Given the description of an element on the screen output the (x, y) to click on. 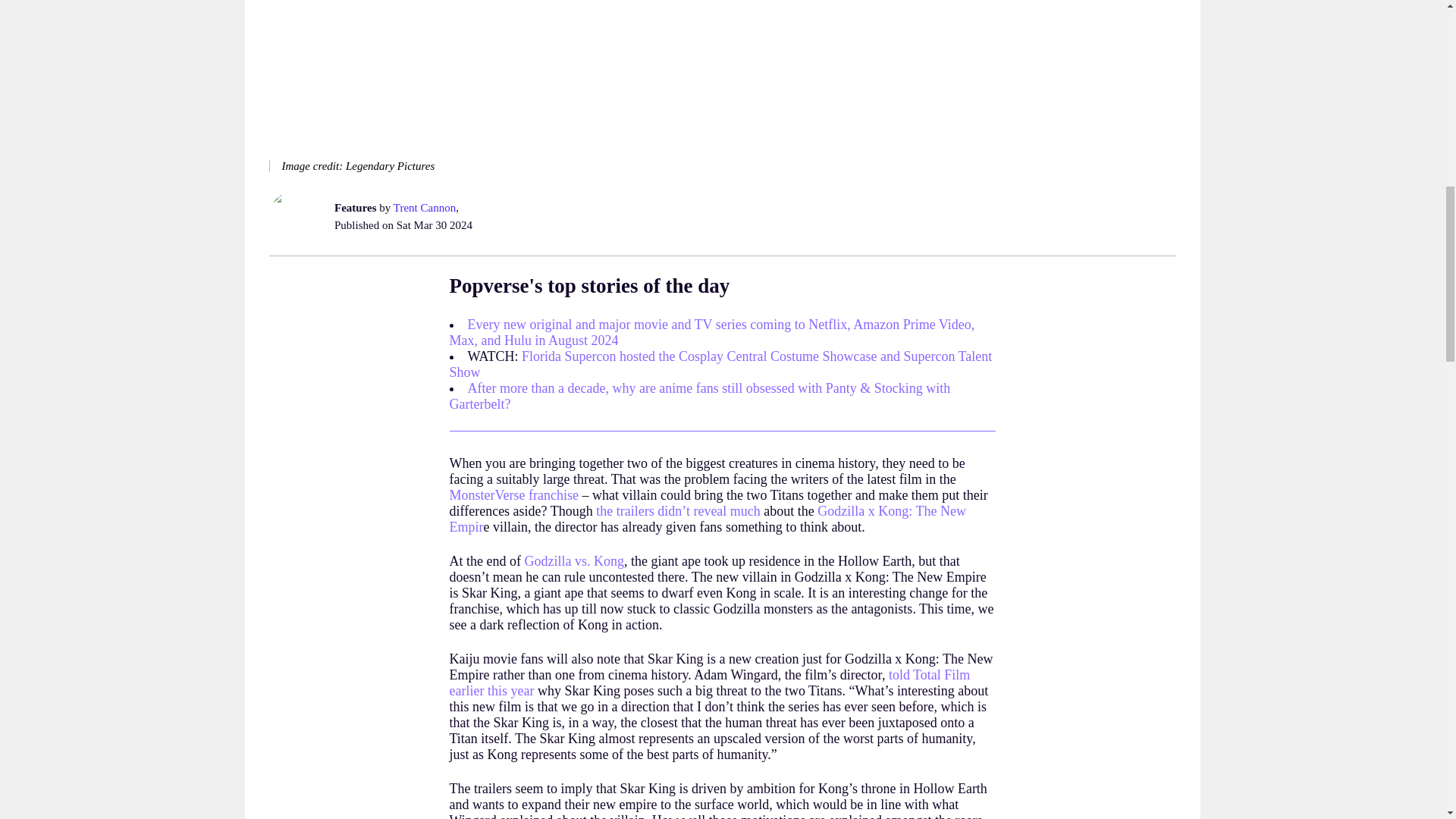
Godzilla vs. Kong (573, 560)
told Total Film earlier this year (708, 682)
MonsterVerse franchise (513, 494)
Godzilla x Kong: The New Empir (706, 518)
Trent Cannon (423, 207)
